Given the description of an element on the screen output the (x, y) to click on. 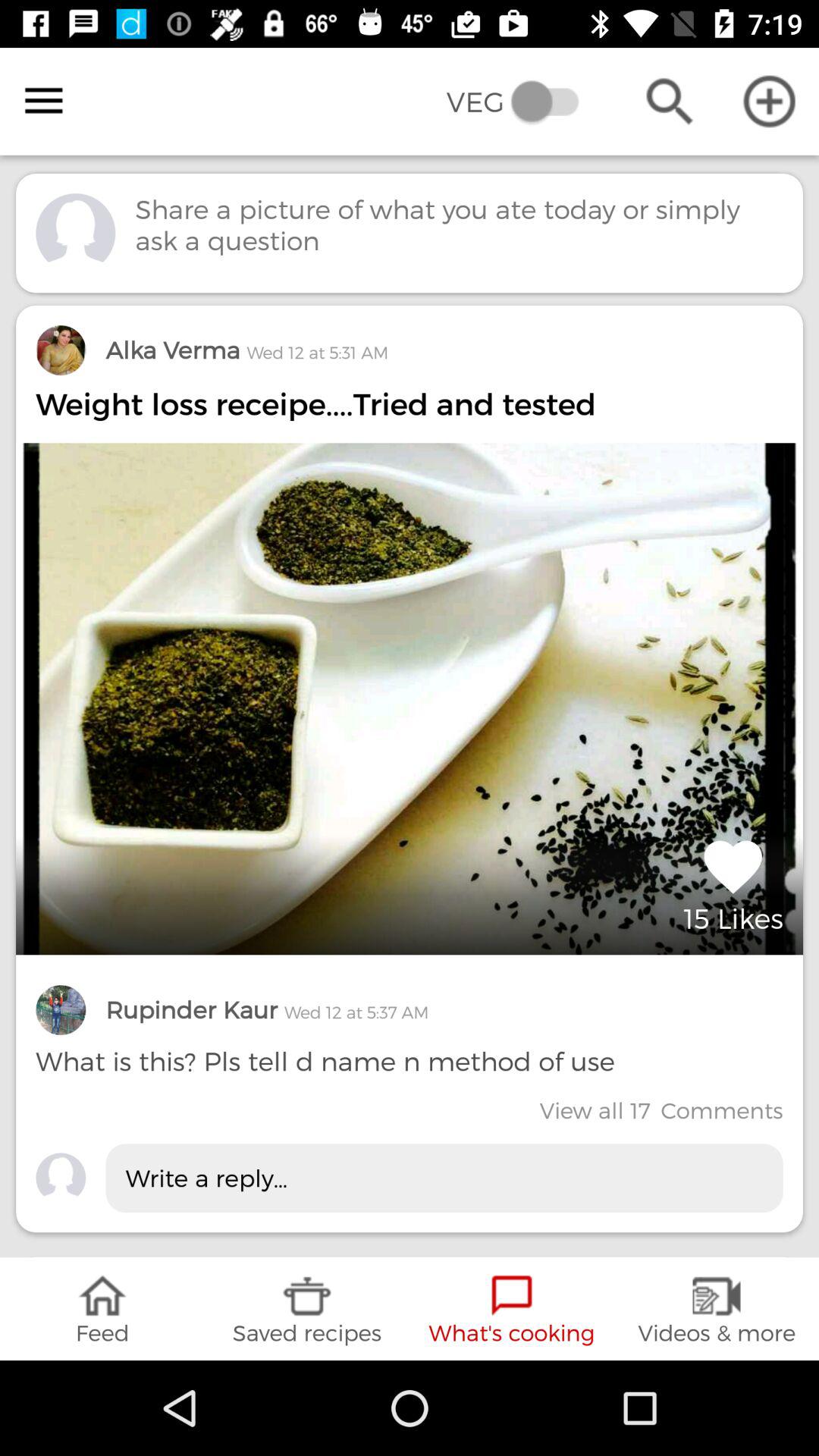
open item next to the saved recipes icon (102, 1308)
